Given the description of an element on the screen output the (x, y) to click on. 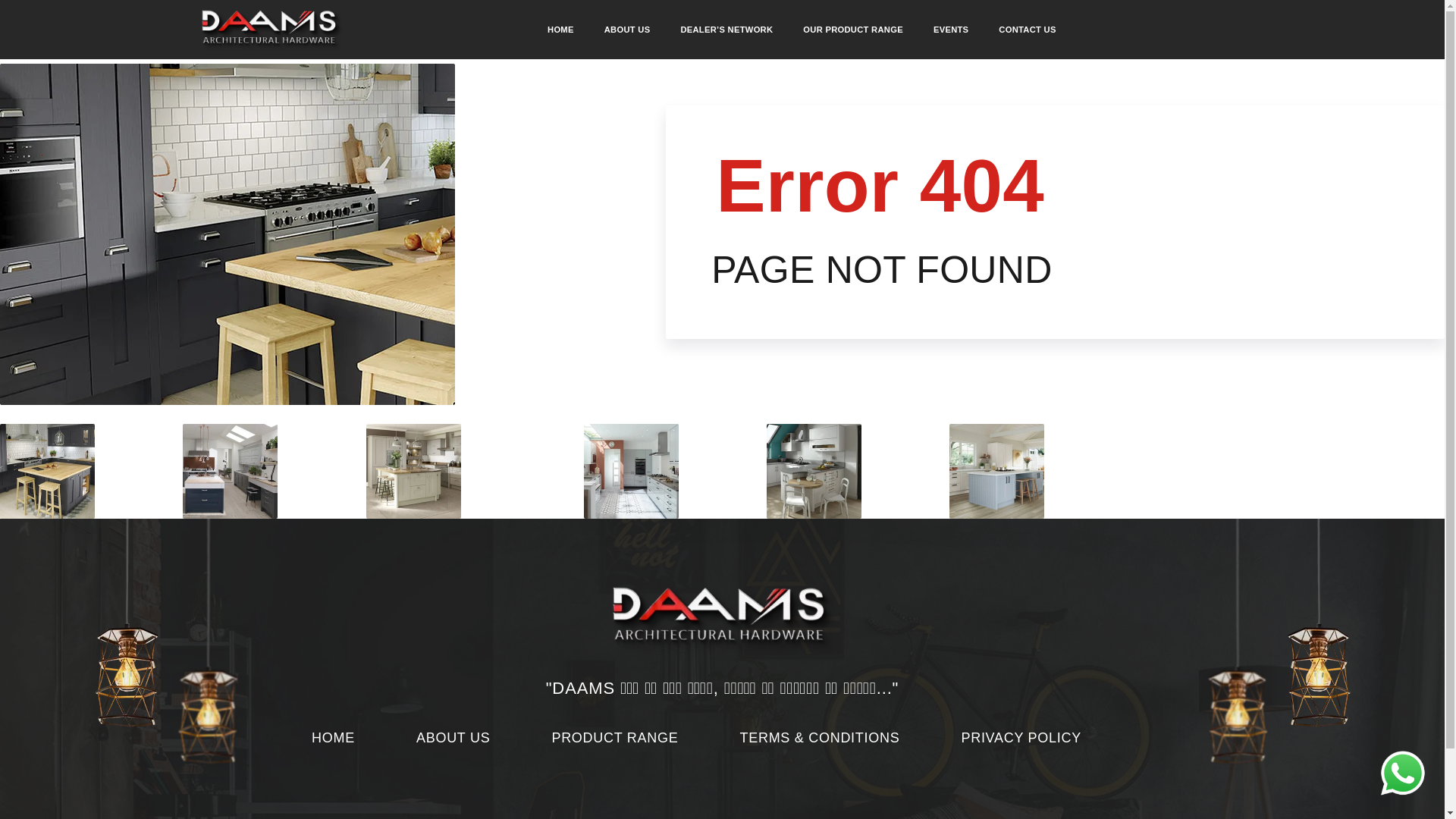
OUR PRODUCT RANGE (852, 29)
CONTACT US (1027, 29)
EVENTS (951, 29)
HOME (560, 29)
ABOUT US (627, 29)
WhatsApp us (1402, 772)
